Given the description of an element on the screen output the (x, y) to click on. 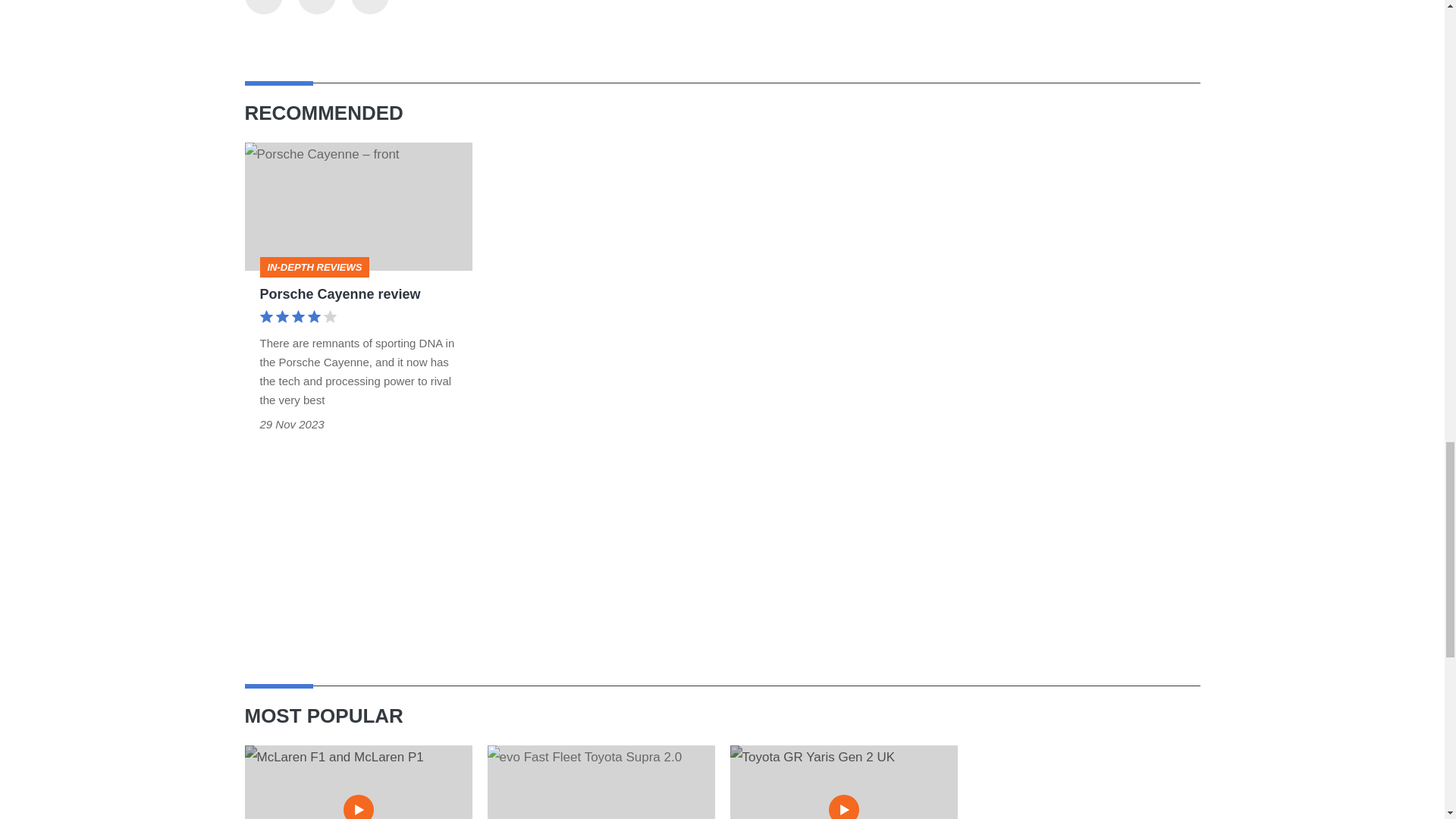
4 Stars (297, 318)
